Given the description of an element on the screen output the (x, y) to click on. 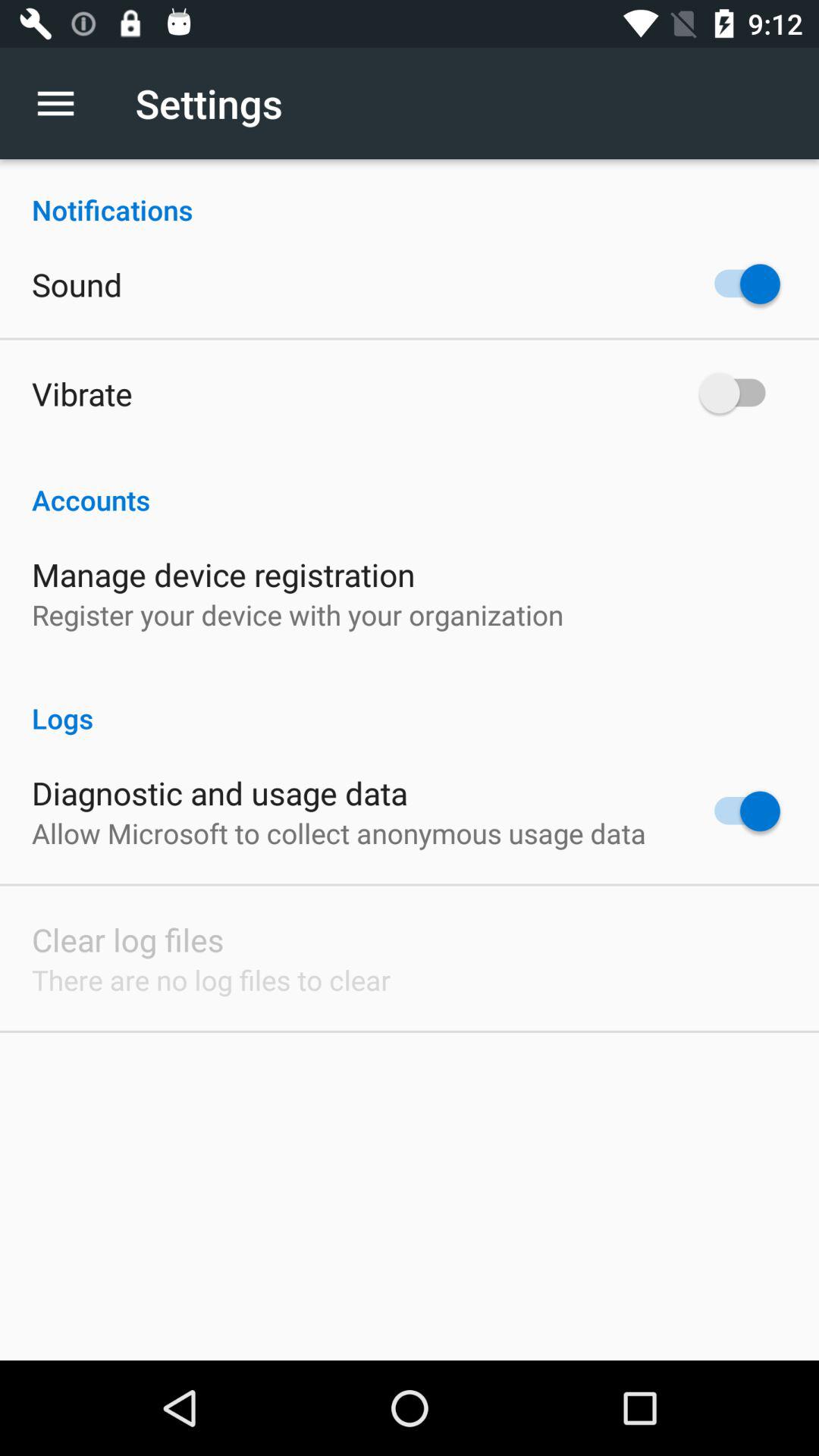
open icon to the left of settings app (63, 103)
